Given the description of an element on the screen output the (x, y) to click on. 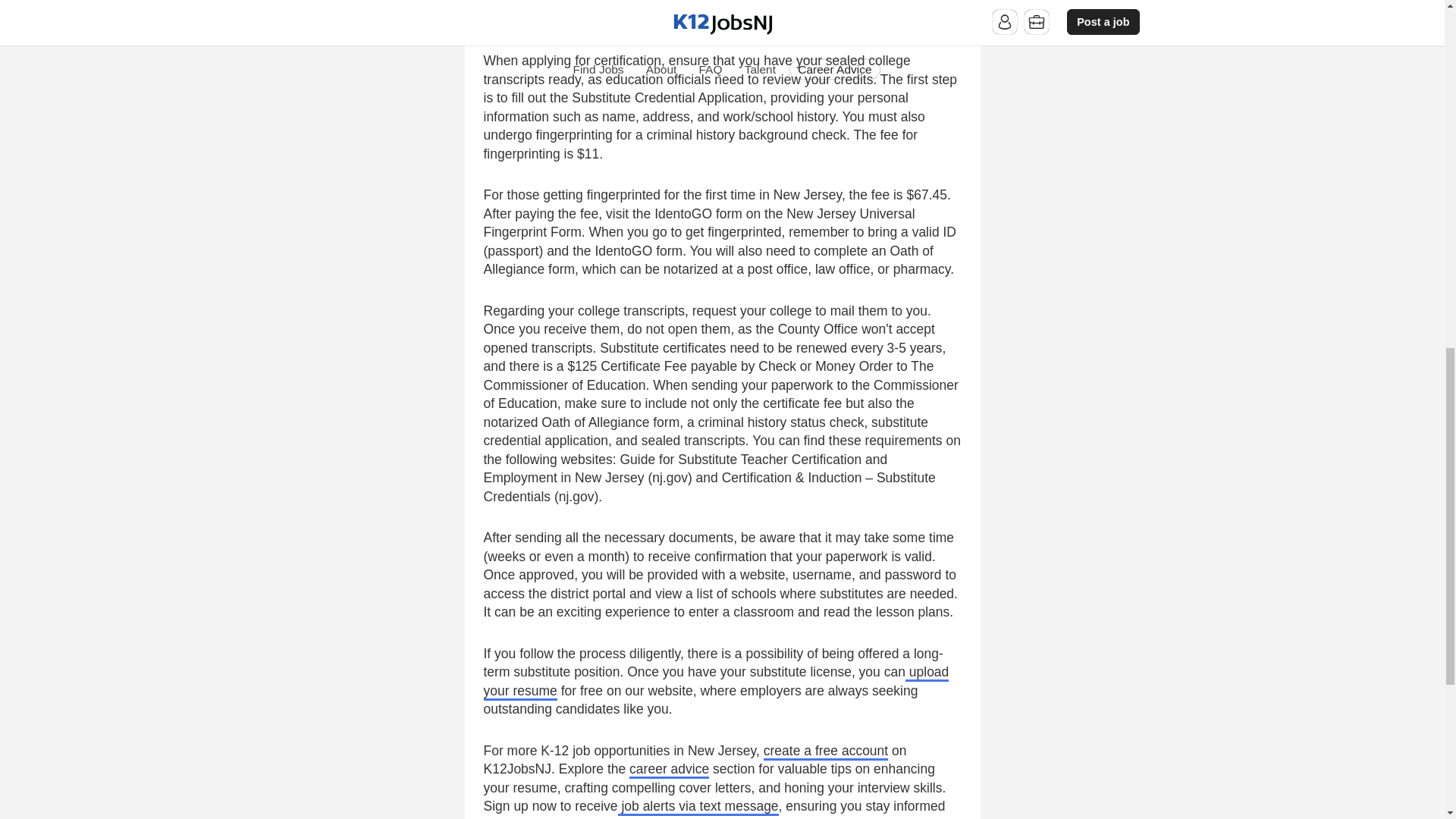
job alerts via text message (697, 806)
create a free account (825, 751)
career advice (668, 769)
upload your resume (716, 682)
